Given the description of an element on the screen output the (x, y) to click on. 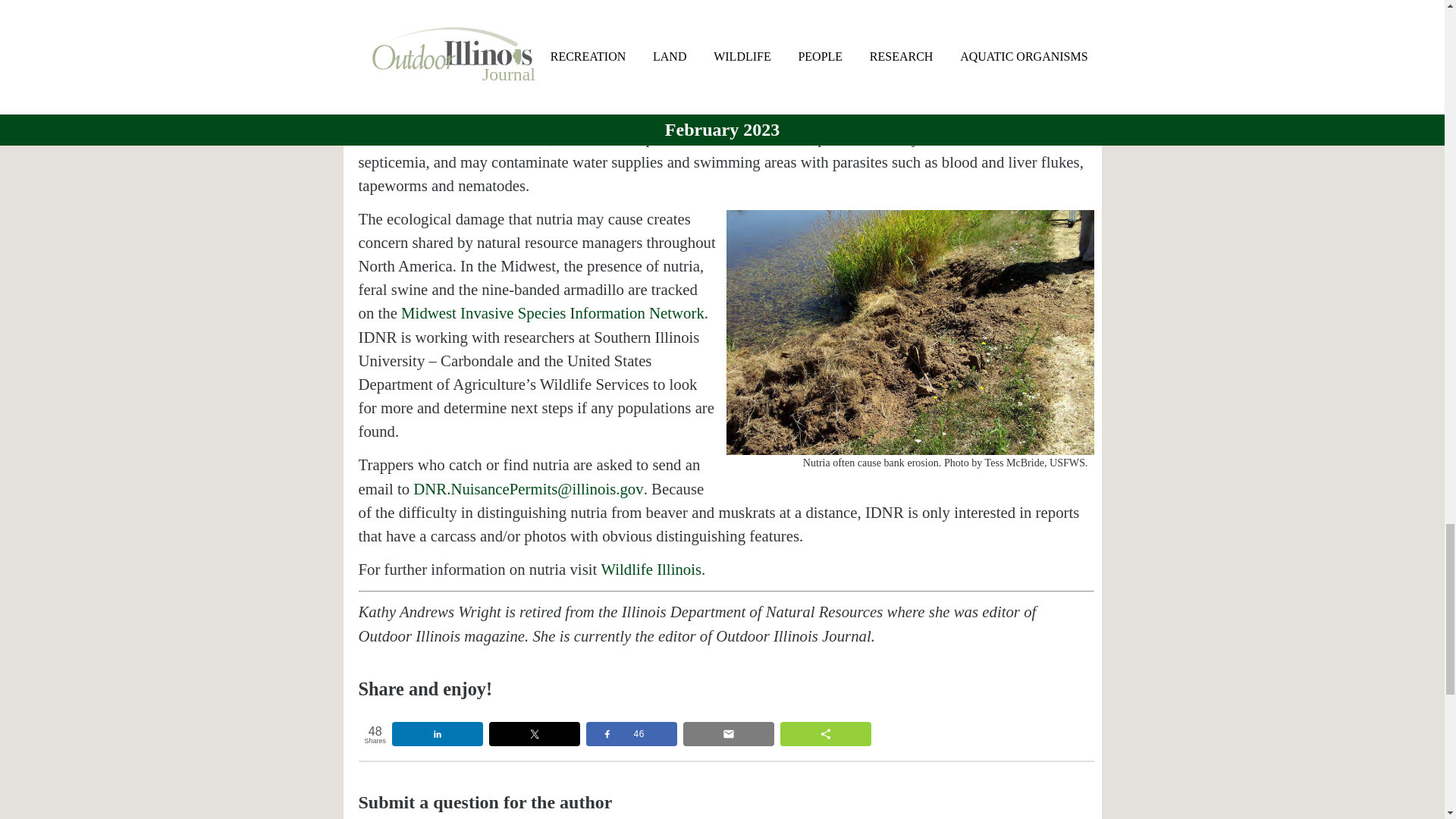
Midwest Invasive Species Information Network (552, 312)
Wildlife Illinois (650, 569)
